Given the description of an element on the screen output the (x, y) to click on. 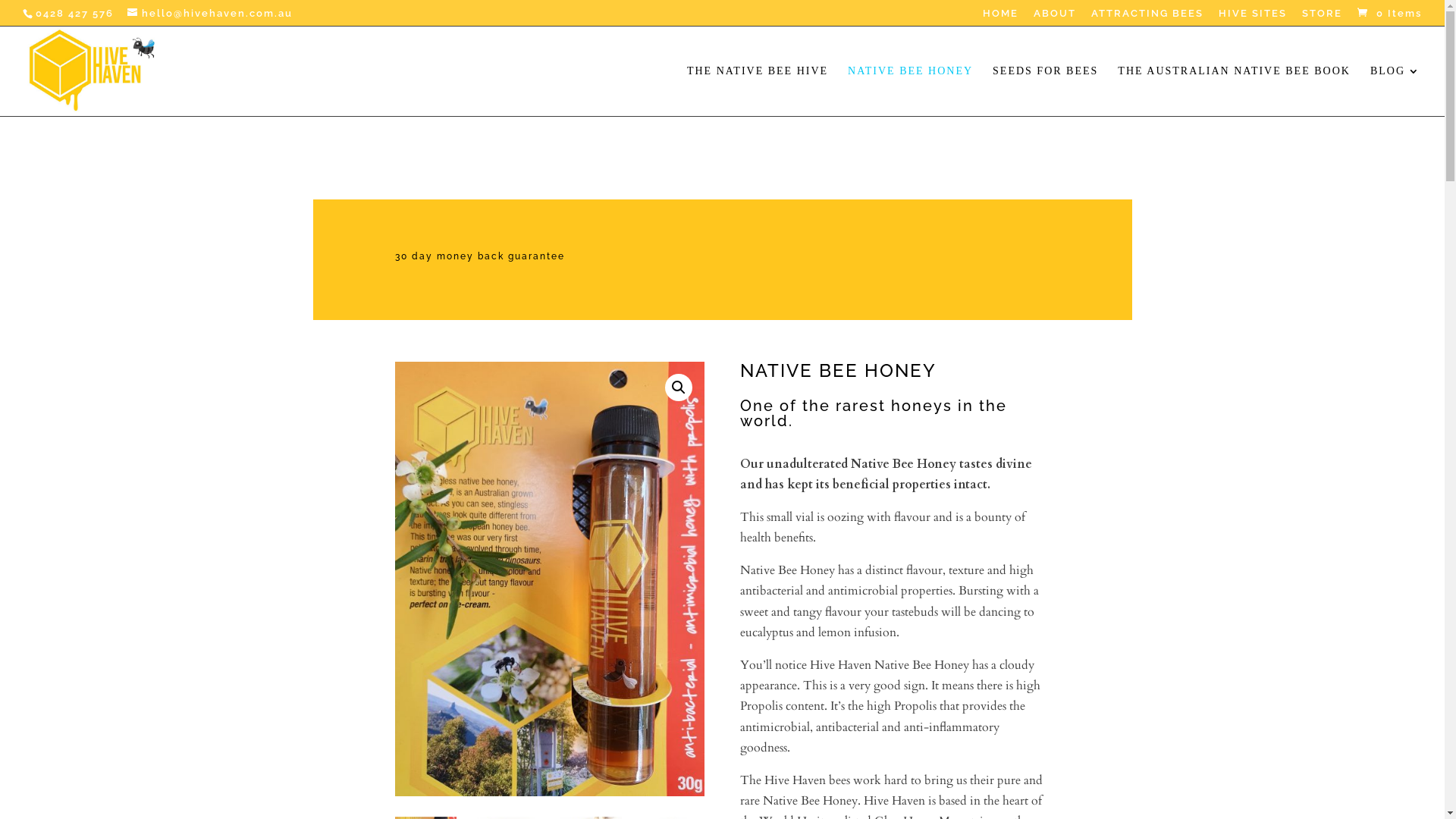
Native-Bee-Honey-Back-card-510px Element type: hover (858, 516)
STORE Element type: text (1322, 16)
HIVE SITES Element type: text (1252, 16)
HOME Element type: text (1000, 16)
NATIVE BEE HONEY Element type: text (909, 90)
BLOG Element type: text (1395, 90)
THE NATIVE BEE HIVE Element type: text (757, 90)
THE AUSTRALIAN NATIVE BEE BOOK Element type: text (1233, 90)
ATTRACTING BEES Element type: text (1147, 16)
hello@hivehaven.com.au Element type: text (209, 12)
Native honey vials Element type: hover (548, 578)
SEEDS FOR BEES Element type: text (1045, 90)
0 Items Element type: text (1387, 12)
ABOUT Element type: text (1054, 16)
